Given the description of an element on the screen output the (x, y) to click on. 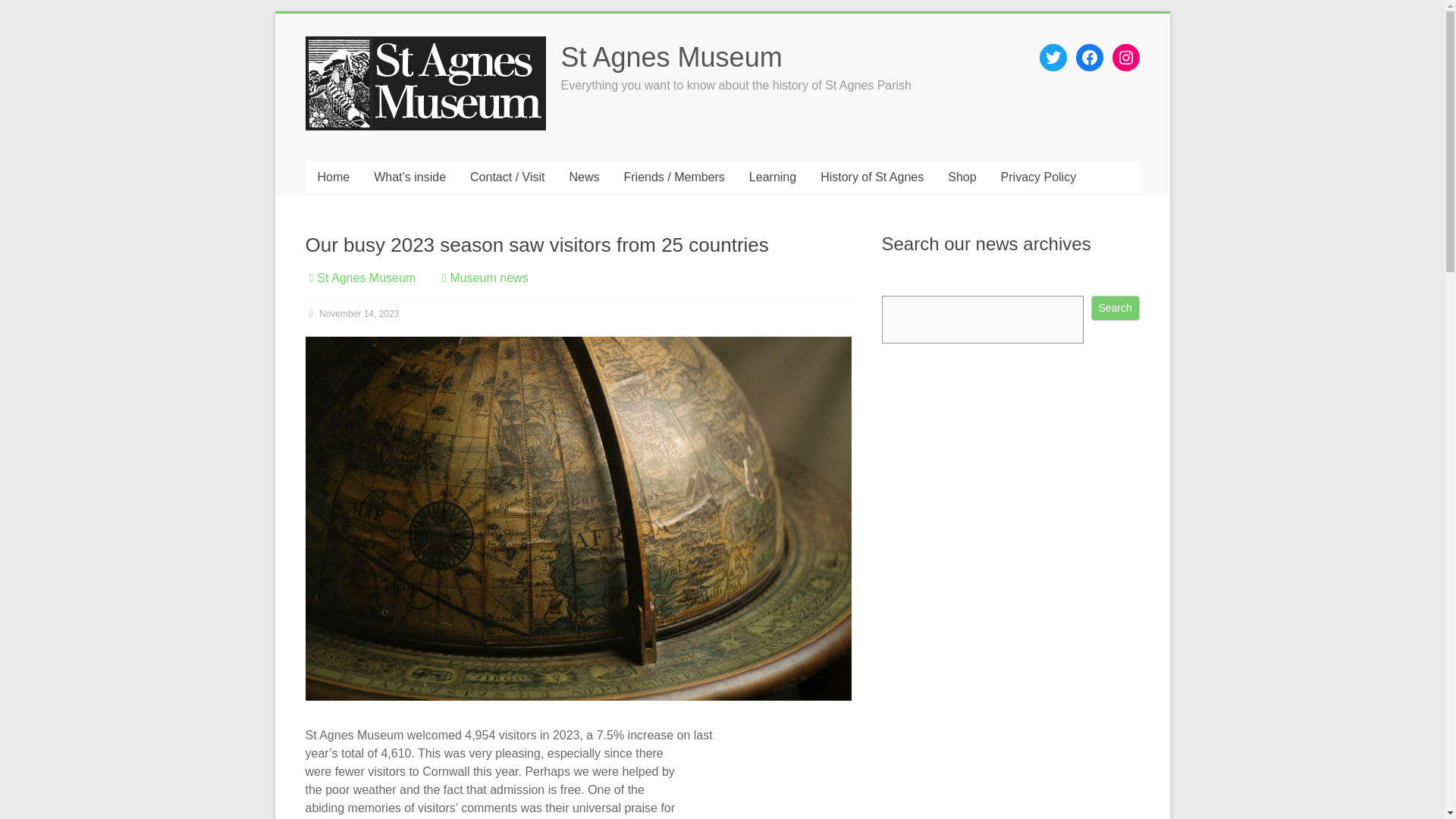
November 14, 2023 (351, 313)
History of St Agnes (872, 177)
St Agnes Museum (671, 56)
St Agnes Museum (365, 277)
Facebook (1088, 57)
St Agnes Museum (365, 277)
4:49 pm (351, 313)
Privacy Policy (1038, 177)
St Agnes Museum (671, 56)
Shop (962, 177)
Home (332, 177)
Museum news (488, 277)
Twitter (1052, 57)
Learning (772, 177)
